Given the description of an element on the screen output the (x, y) to click on. 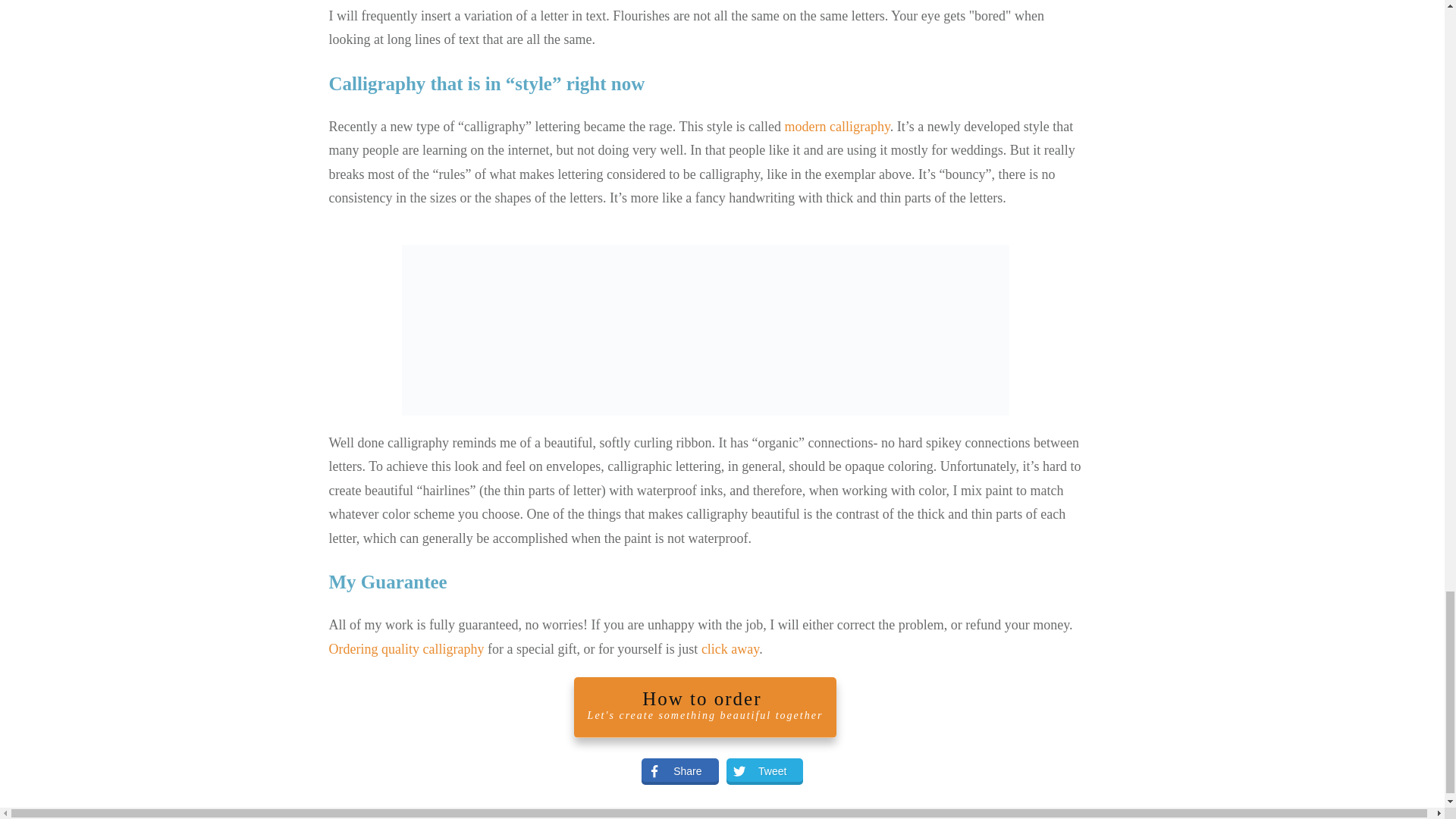
Share (705, 707)
Calligraphy-fad (672, 771)
click away (705, 329)
Tweet (729, 648)
modern calligraphy (756, 771)
Ordering quality calligraphy (836, 126)
